Given the description of an element on the screen output the (x, y) to click on. 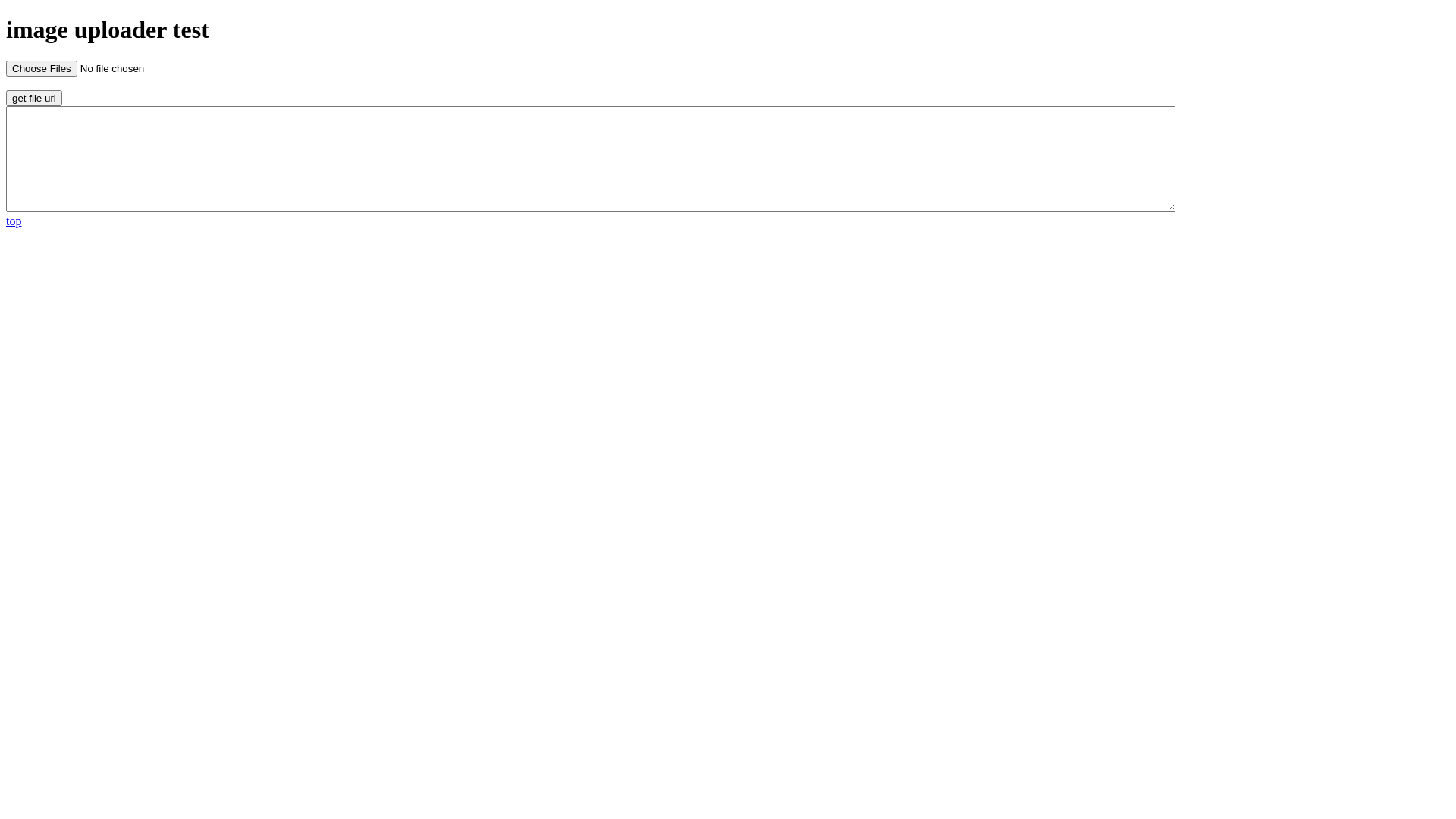
get file url Element type: text (34, 98)
top Element type: text (13, 220)
